Given the description of an element on the screen output the (x, y) to click on. 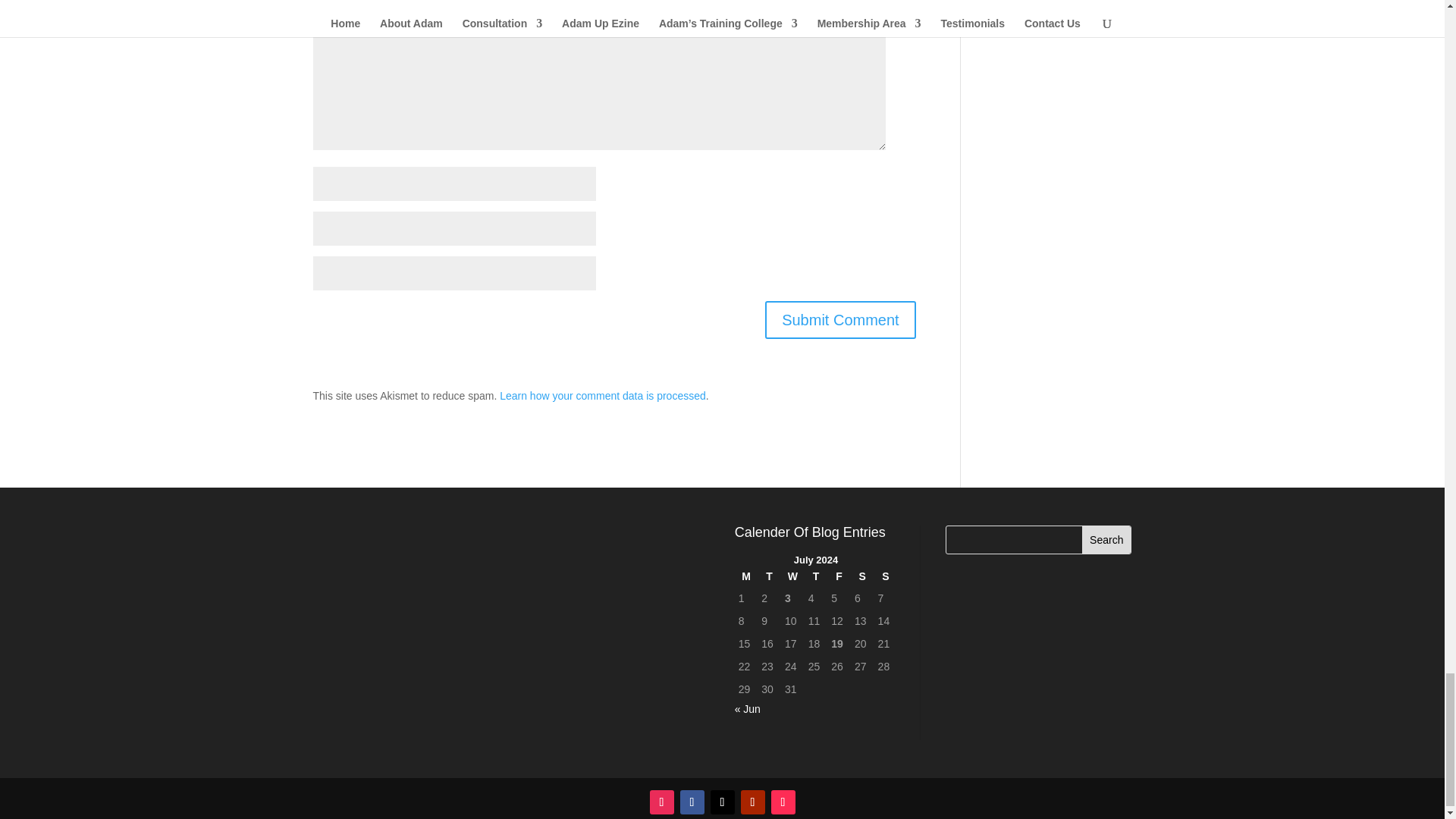
Submit Comment (840, 320)
Search (1106, 539)
Search (1106, 539)
